Given the description of an element on the screen output the (x, y) to click on. 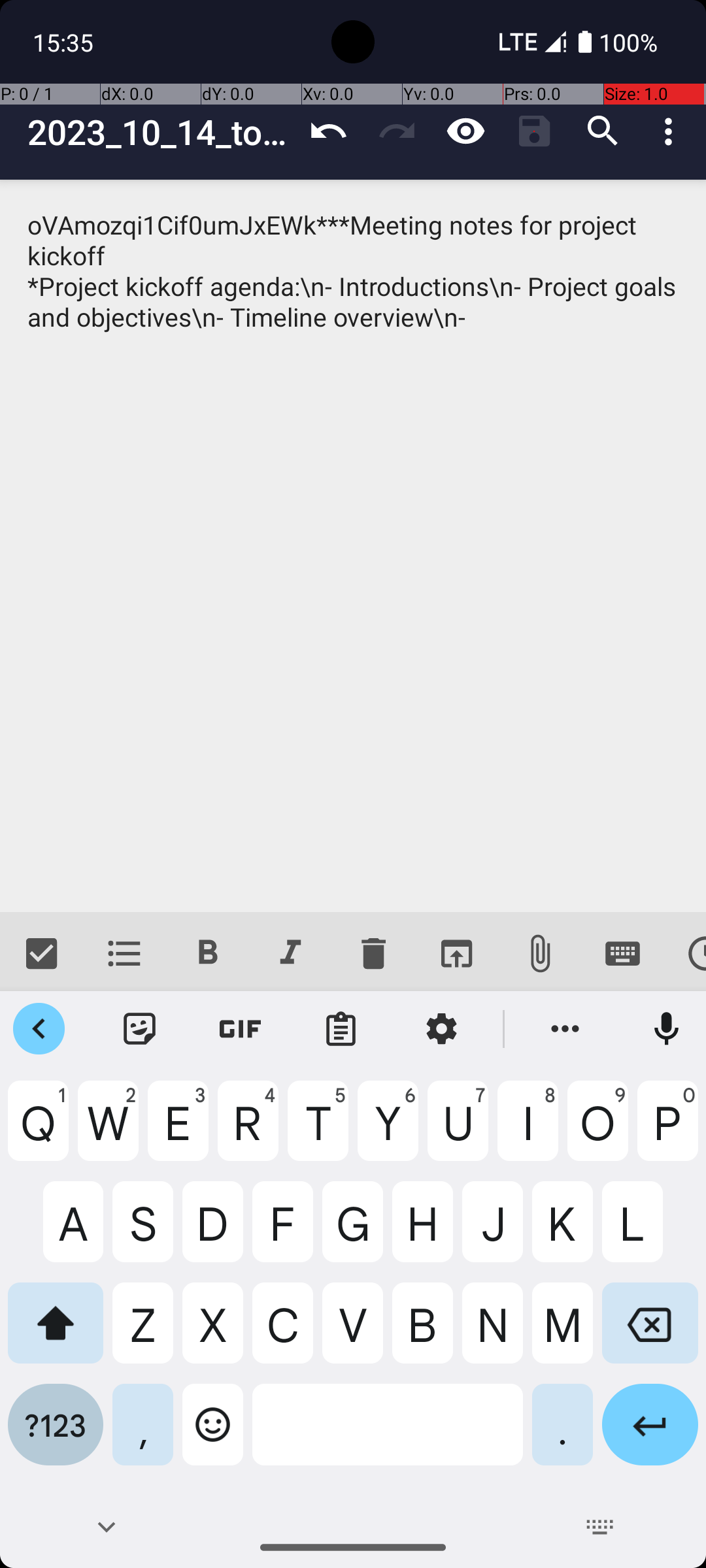
2023_10_14_tough_mouse_2023_04_01 Element type: android.widget.TextView (160, 131)
oVAmozqi1Cif0umJxEWk***Meeting notes for project kickoff
*Project kickoff agenda:\n- Introductions\n- Project goals and objectives\n- Timeline overview\n-
 Element type: android.widget.EditText (353, 545)
